Given the description of an element on the screen output the (x, y) to click on. 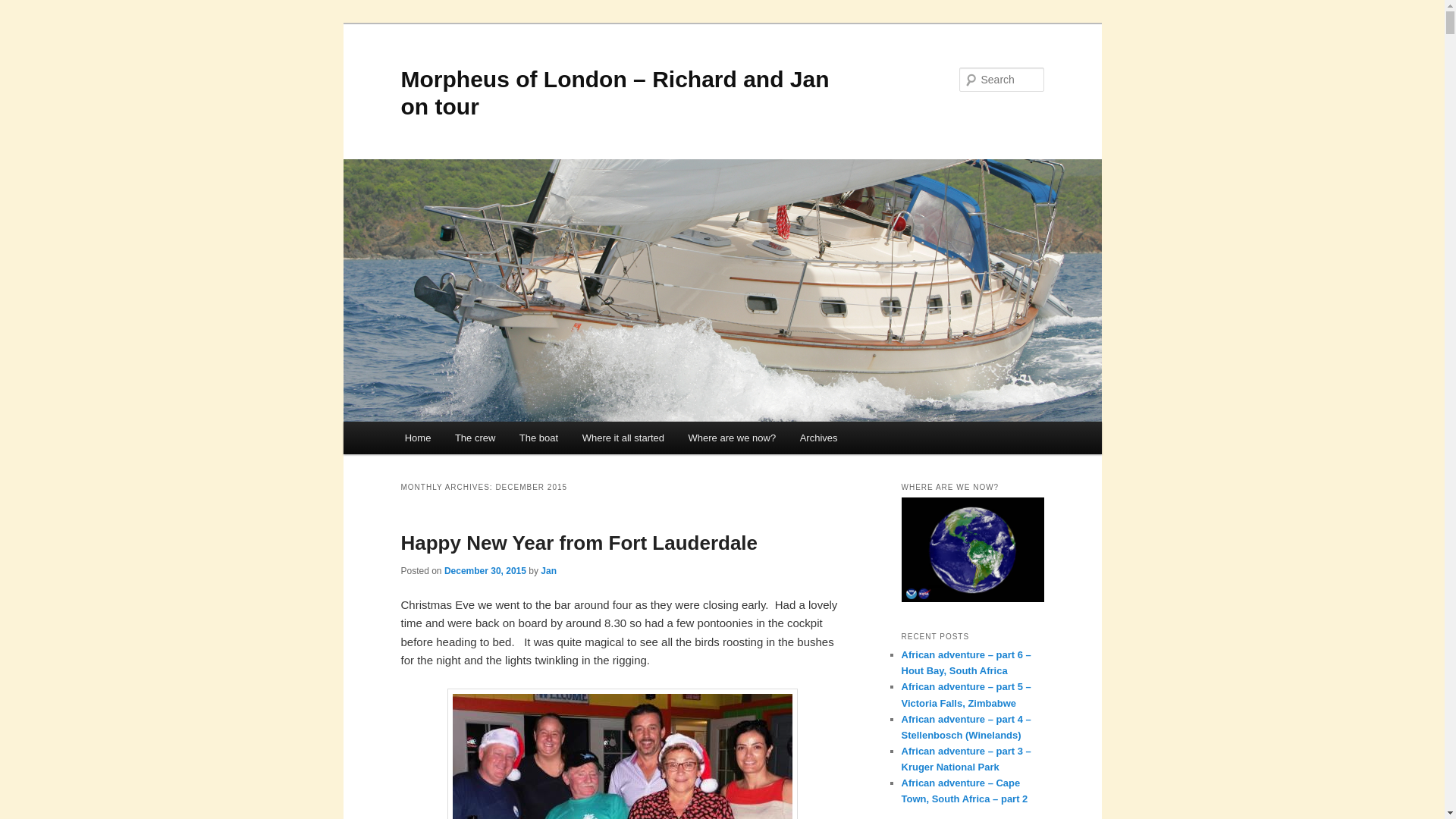
The crew (474, 437)
Where are we now? (732, 437)
Search (24, 8)
December 30, 2015 (484, 570)
View all posts by Jan (548, 570)
Home (417, 437)
3:48 pm (484, 570)
Happy New Year from Fort Lauderdale (578, 542)
Archives (817, 437)
